Given the description of an element on the screen output the (x, y) to click on. 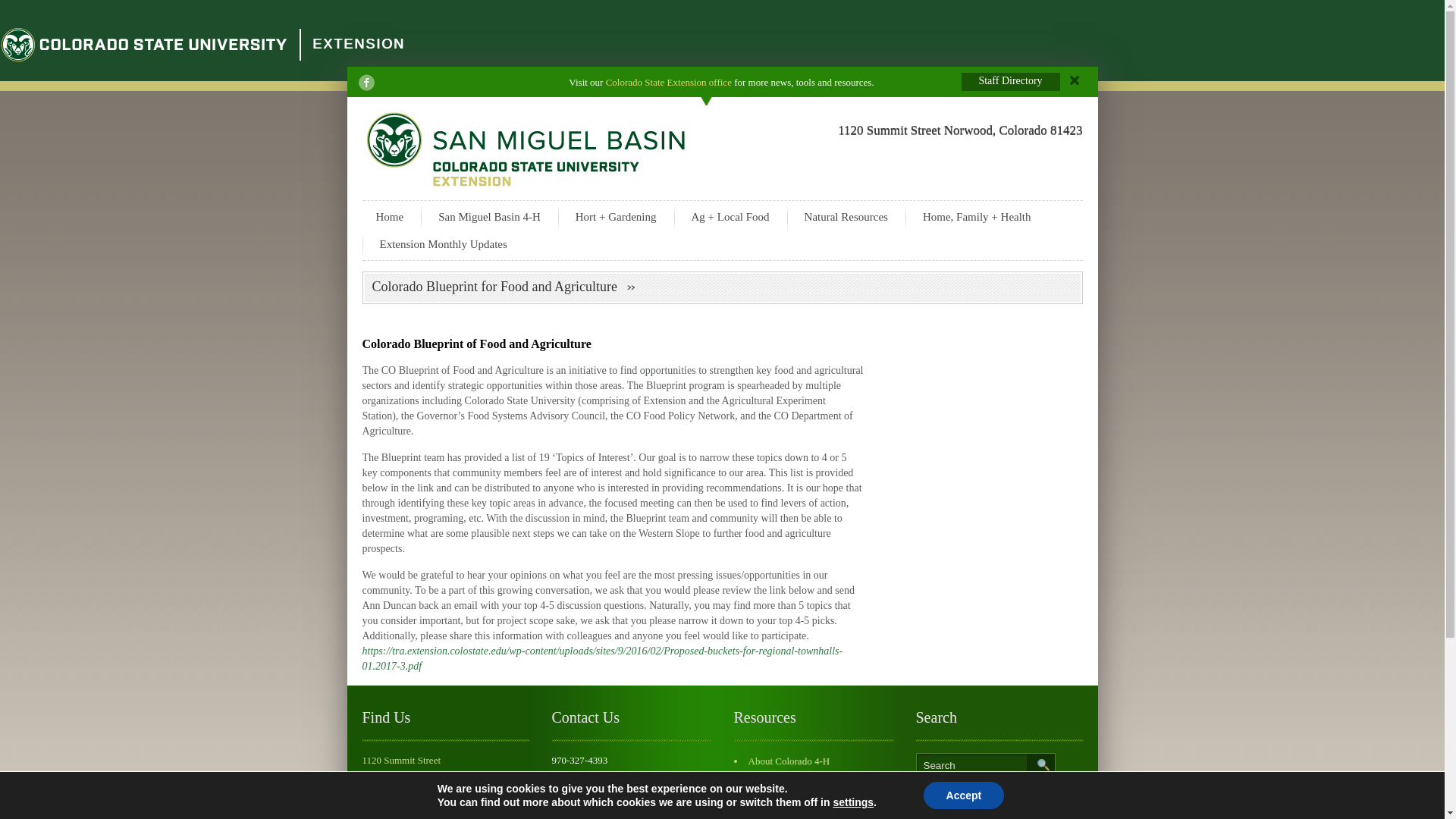
4-H Member Fees (783, 810)
970-327-4393 (579, 759)
Colorado State University (144, 44)
San Miguel Basin 4-H (489, 216)
About Colorado 4-H (788, 760)
Directions (382, 801)
EXTENSION (358, 43)
Accept (963, 795)
Home (389, 216)
Share on Facebook (366, 82)
